Given the description of an element on the screen output the (x, y) to click on. 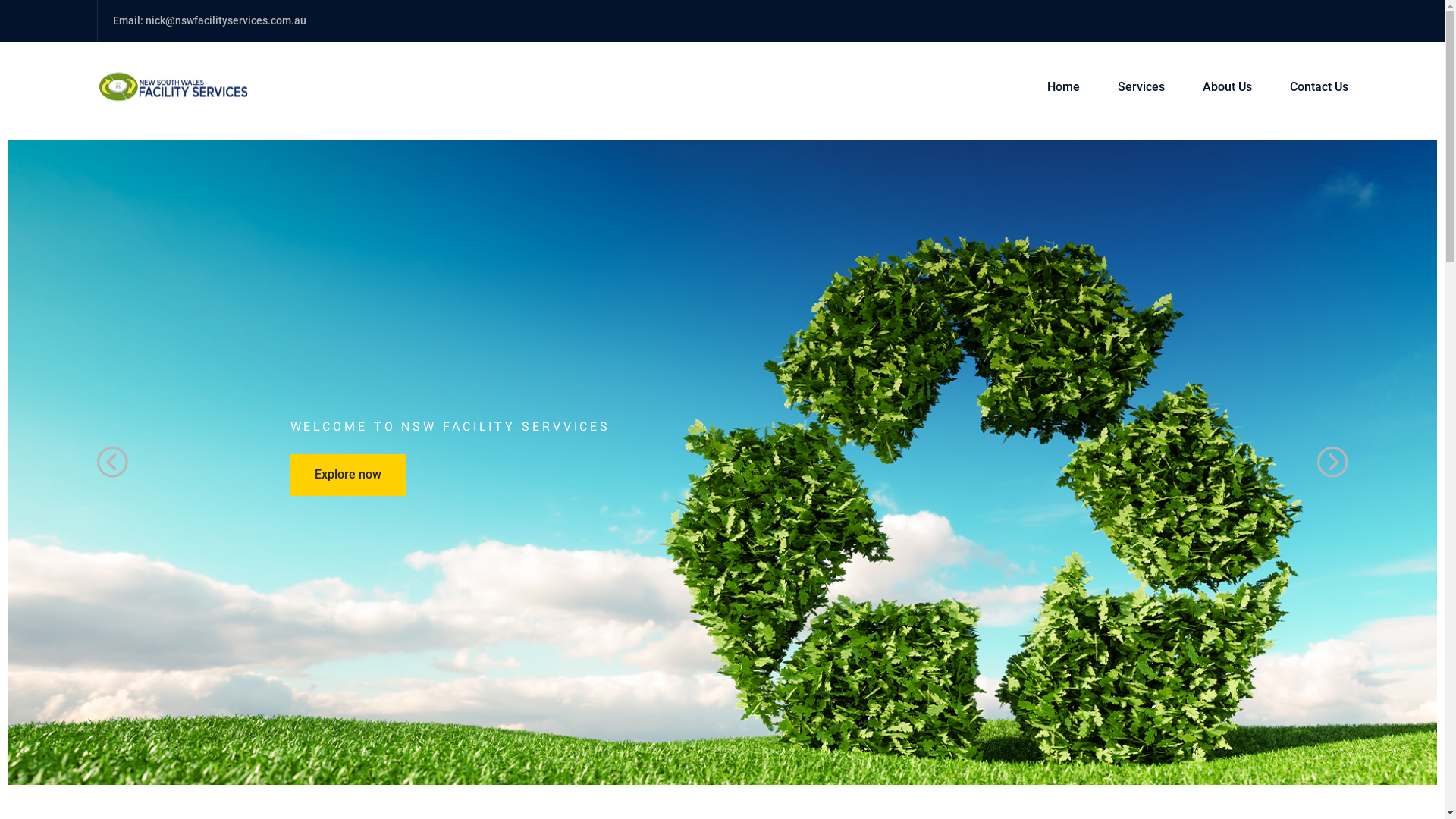
Contact Us Element type: text (1310, 86)
Services Element type: text (1140, 86)
Explore now Element type: text (346, 474)
Home Element type: text (1063, 86)
About Us Element type: text (1226, 86)
